Given the description of an element on the screen output the (x, y) to click on. 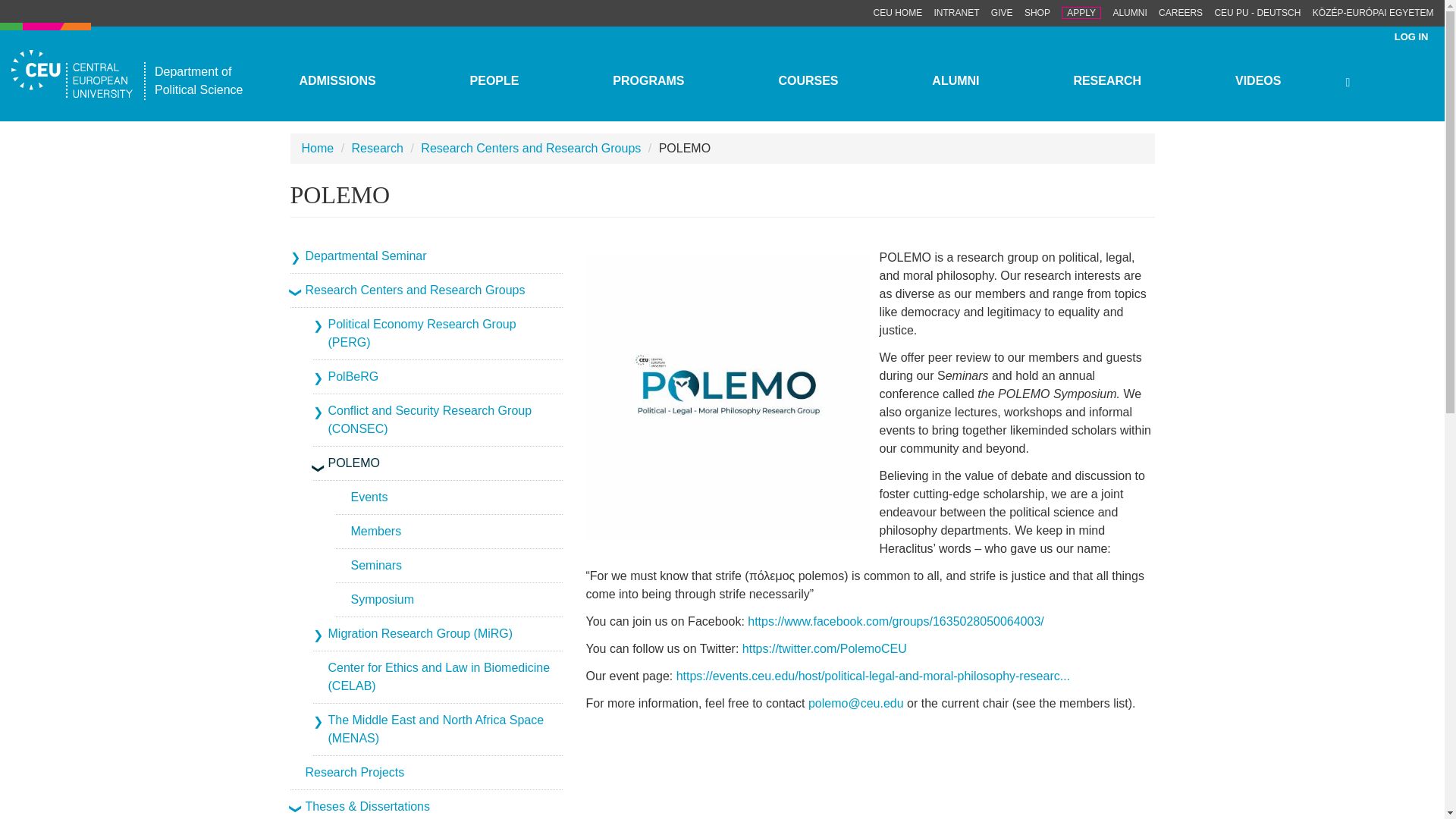
Home (77, 73)
SHOP (1037, 12)
COURSES (807, 80)
PROGRAMS (648, 80)
ADMISSIONS (336, 80)
INTRANET (956, 12)
GIVE (1002, 12)
ALUMNI (1129, 12)
